Given the description of an element on the screen output the (x, y) to click on. 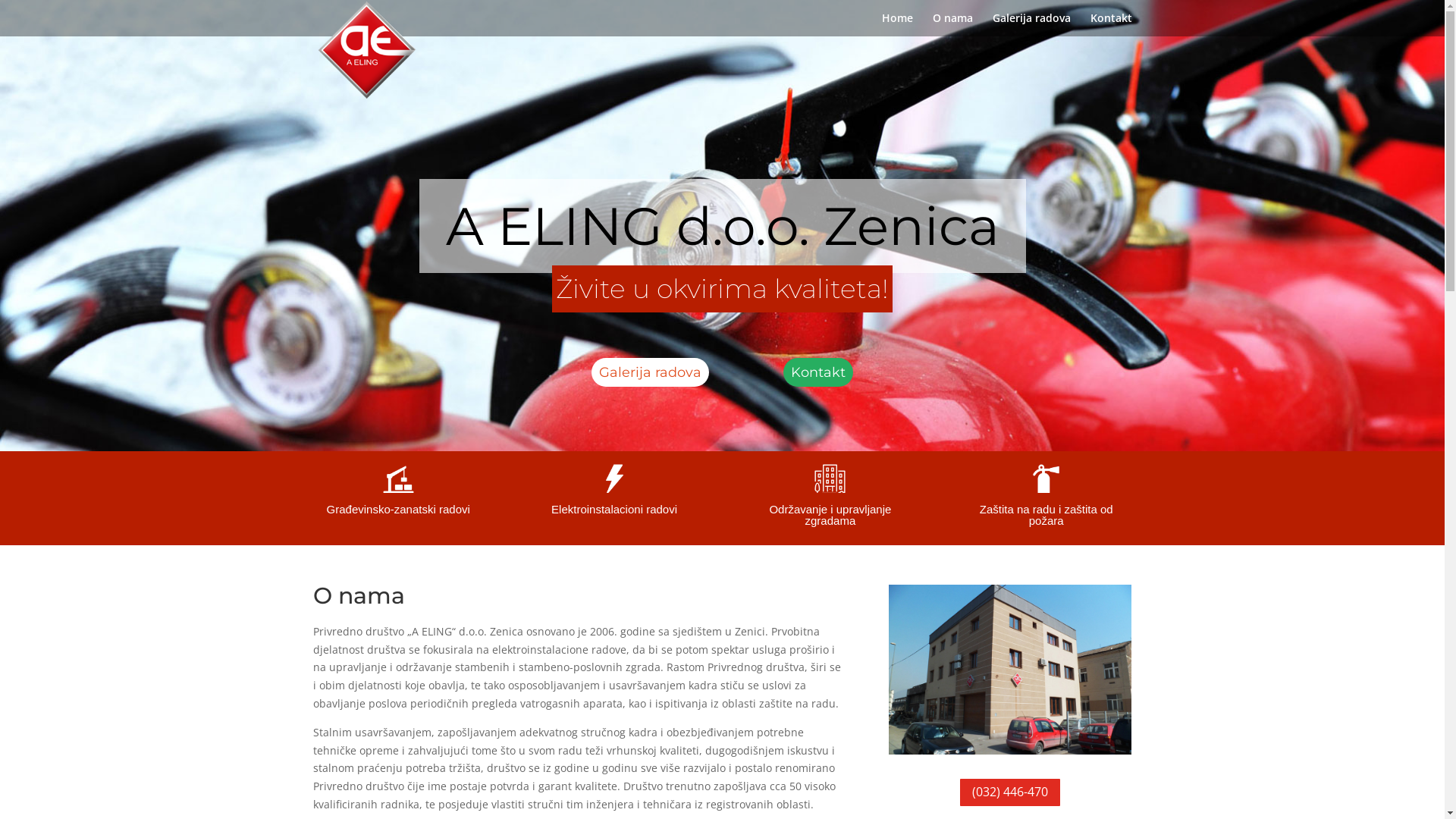
(032) 446-470 Element type: text (1009, 792)
Home Element type: text (896, 24)
O nama Element type: text (952, 24)
Elektroinstalacioni radovi Element type: text (614, 508)
Kontakt Element type: text (817, 371)
Kontakt Element type: text (1111, 24)
Galerija radova Element type: text (650, 371)
Galerija radova Element type: text (1030, 24)
